Given the description of an element on the screen output the (x, y) to click on. 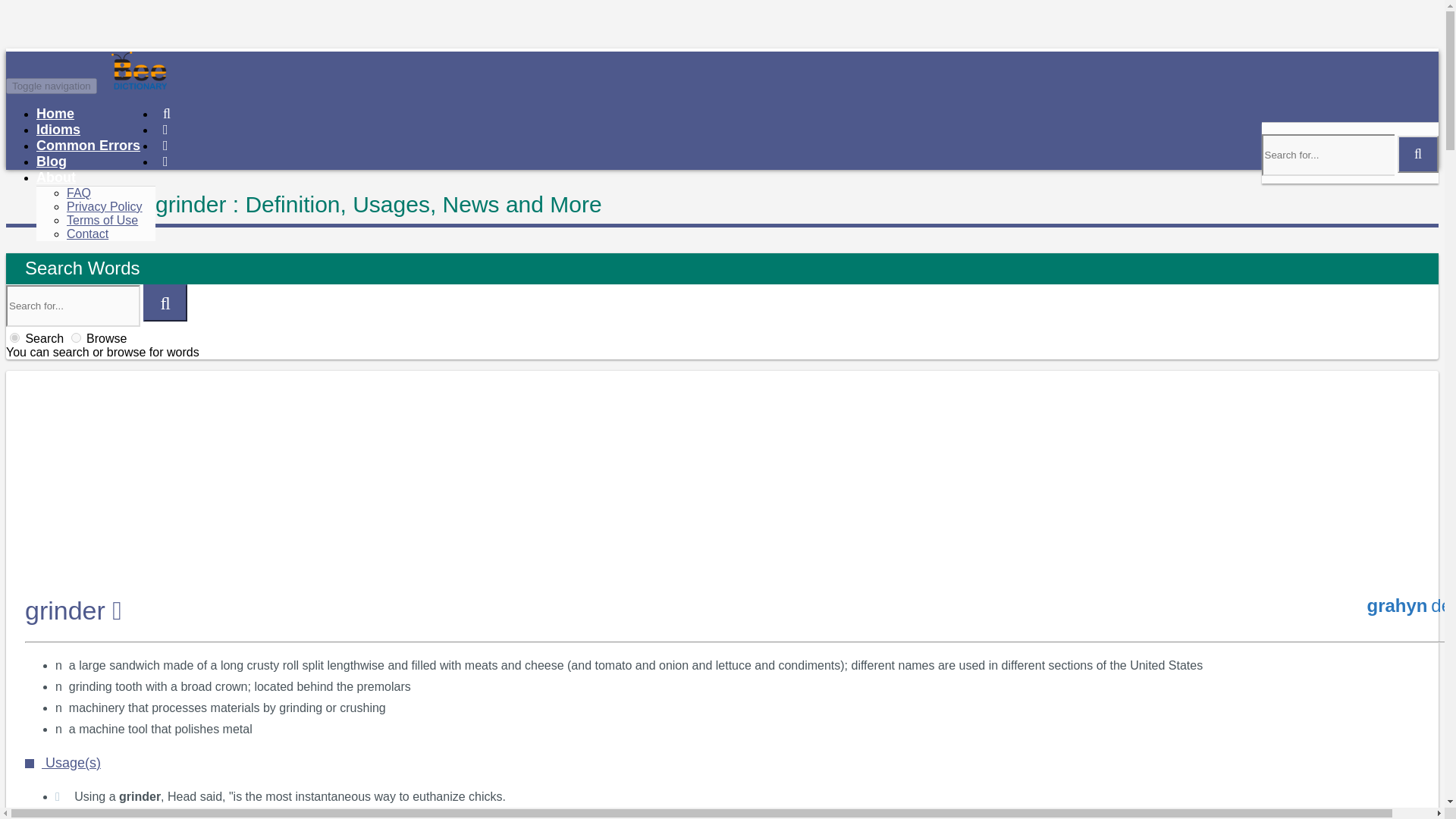
browse (76, 337)
About (55, 176)
Toggle navigation (51, 85)
Terms of Use (102, 219)
FAQ (78, 192)
Contact (86, 233)
Common Errors (87, 145)
Privacy Policy (104, 205)
search (15, 337)
logo (196, 85)
Blog (51, 161)
Idioms (58, 129)
Home (55, 113)
